Given the description of an element on the screen output the (x, y) to click on. 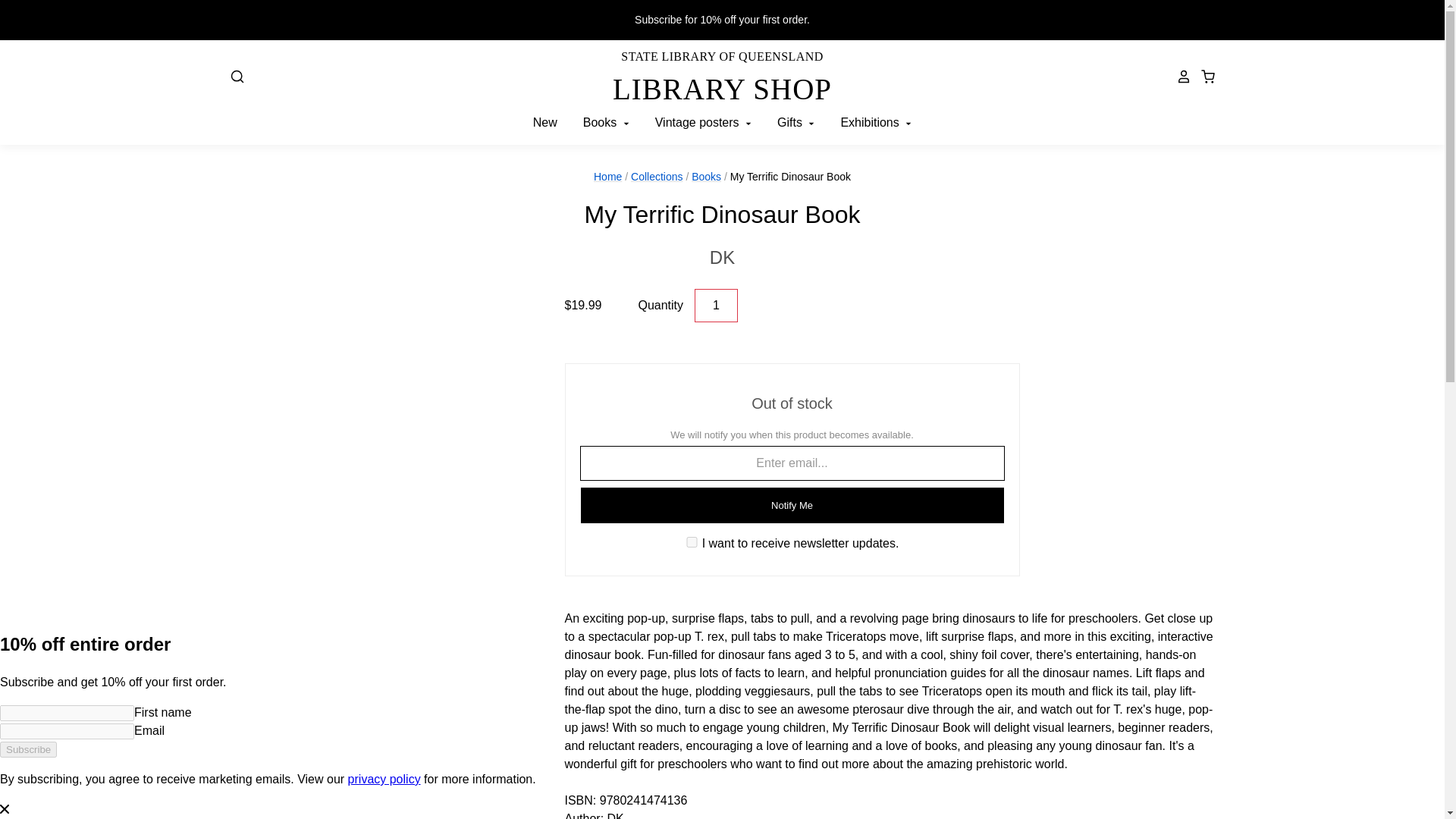
on (691, 542)
1 (722, 257)
